Given the description of an element on the screen output the (x, y) to click on. 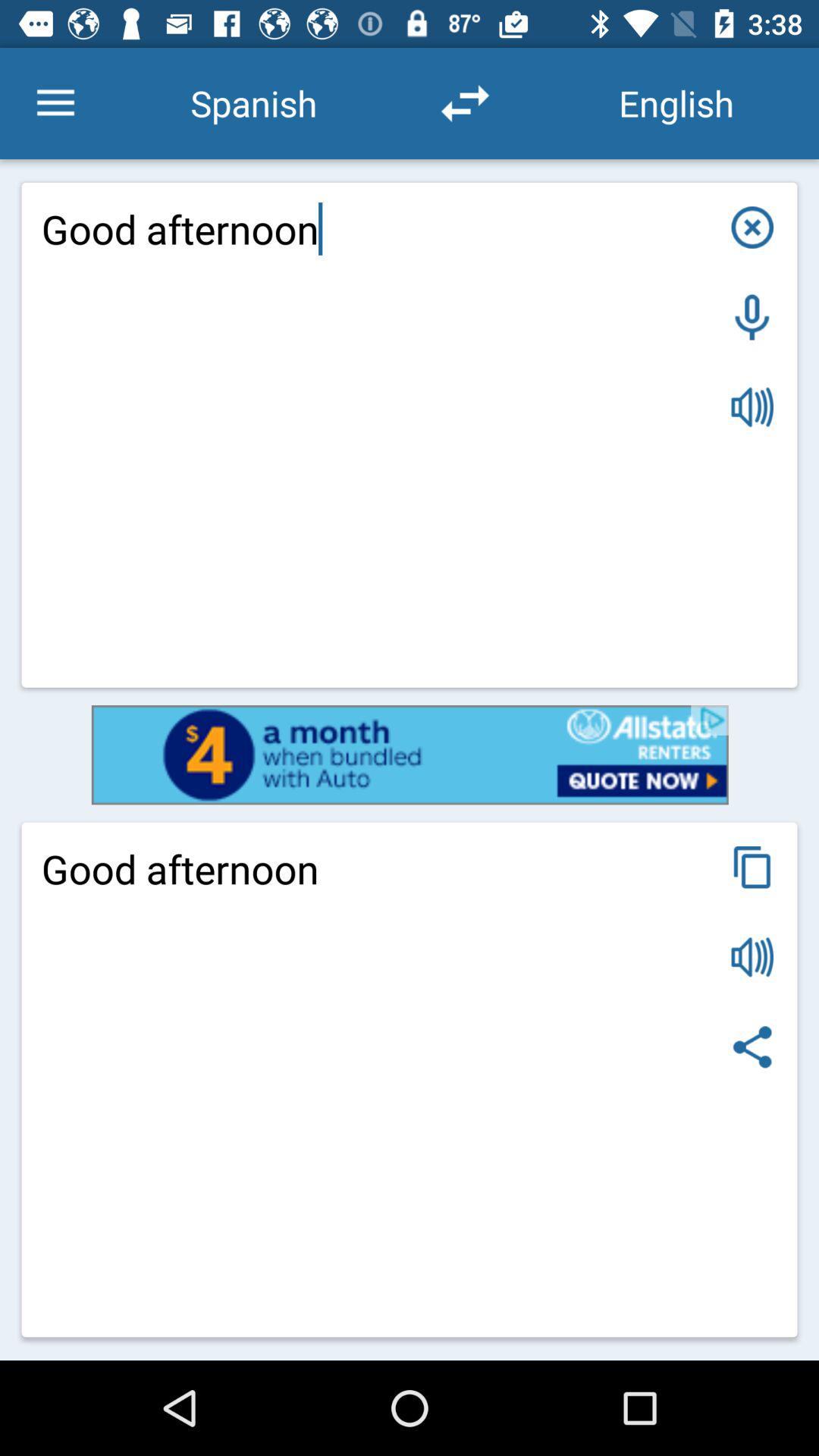
go to arrow (465, 103)
